Given the description of an element on the screen output the (x, y) to click on. 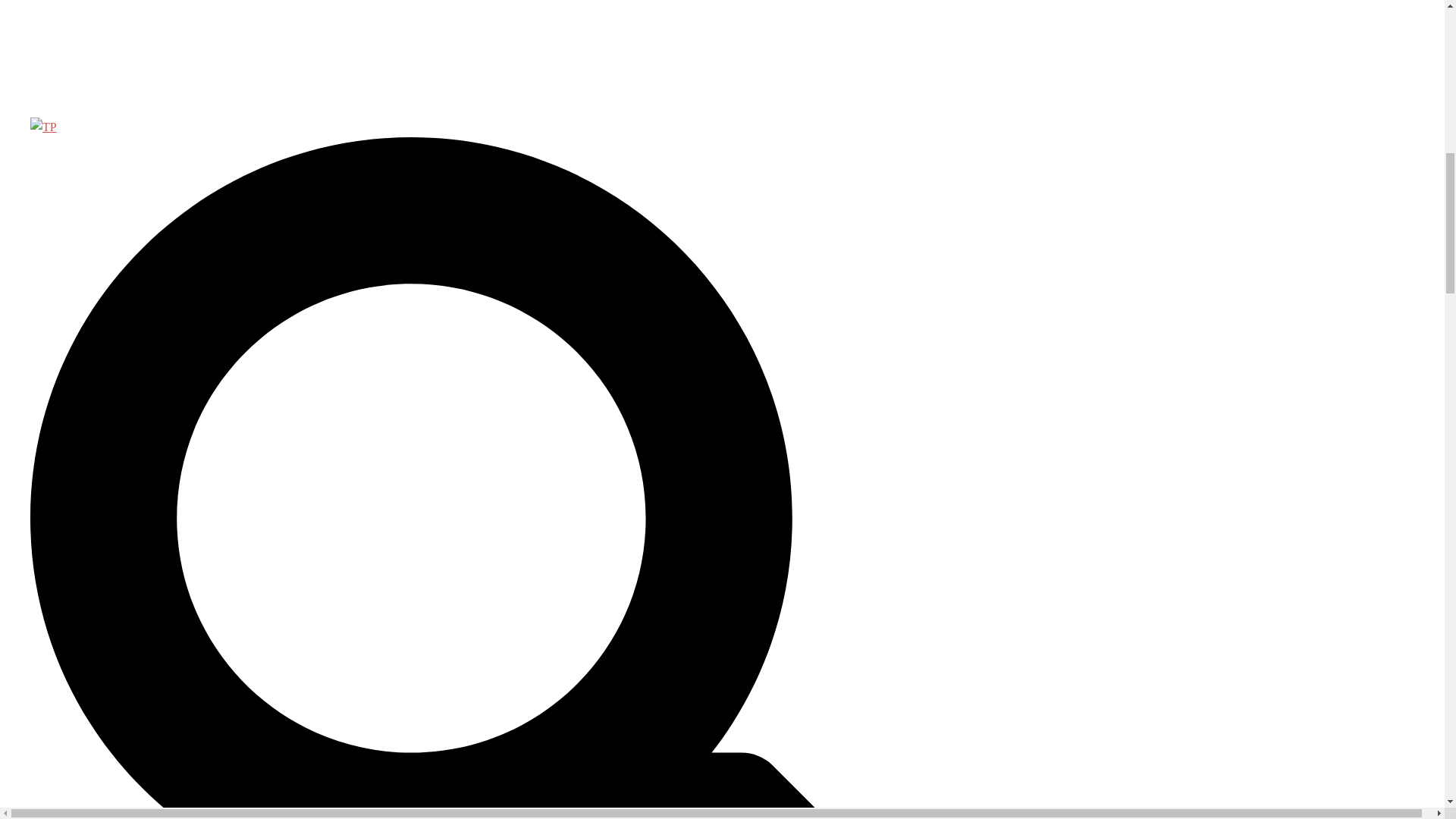
House Renovation (80, 59)
TP (43, 126)
Bedroom Decoration (87, 2)
Renovation (61, 81)
House Design (68, 36)
Home Improvement (84, 14)
